Given the description of an element on the screen output the (x, y) to click on. 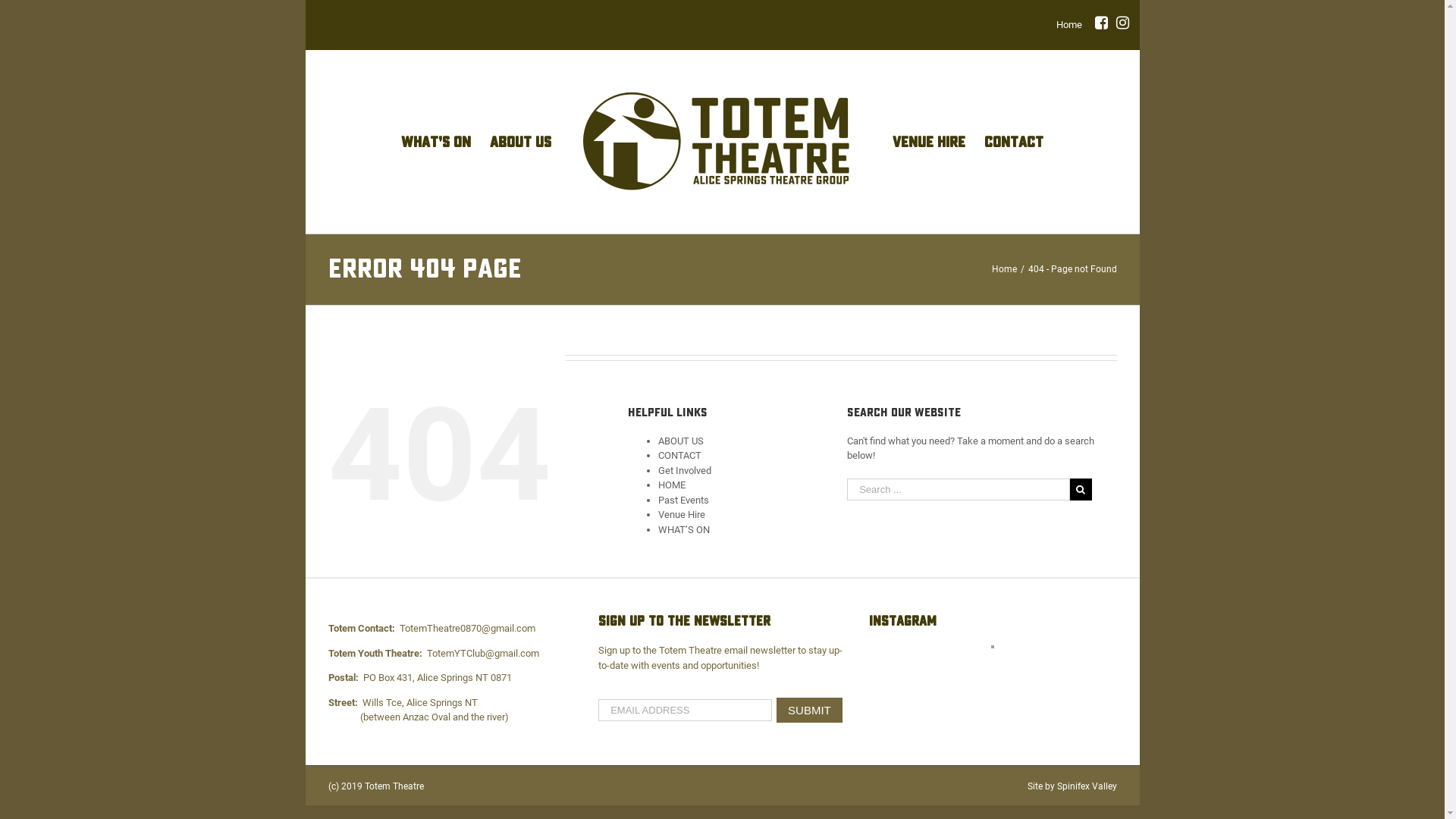
Venue Hire Element type: text (928, 140)
ABOUT US Element type: text (680, 440)
Home Element type: text (1003, 268)
SUBMIT Element type: text (809, 709)
Home Element type: text (1068, 24)
CONTACT Element type: text (1013, 140)
Get Involved Element type: text (684, 469)
Past Events Element type: text (683, 499)
ABOUT US Element type: text (520, 140)
TotemYTClub@gmail.com Element type: text (482, 652)
HOME Element type: text (671, 484)
Venue Hire Element type: text (681, 514)
TotemTheatre0870@gmail.com Element type: text (466, 627)
CONTACT Element type: text (679, 455)
